Given the description of an element on the screen output the (x, y) to click on. 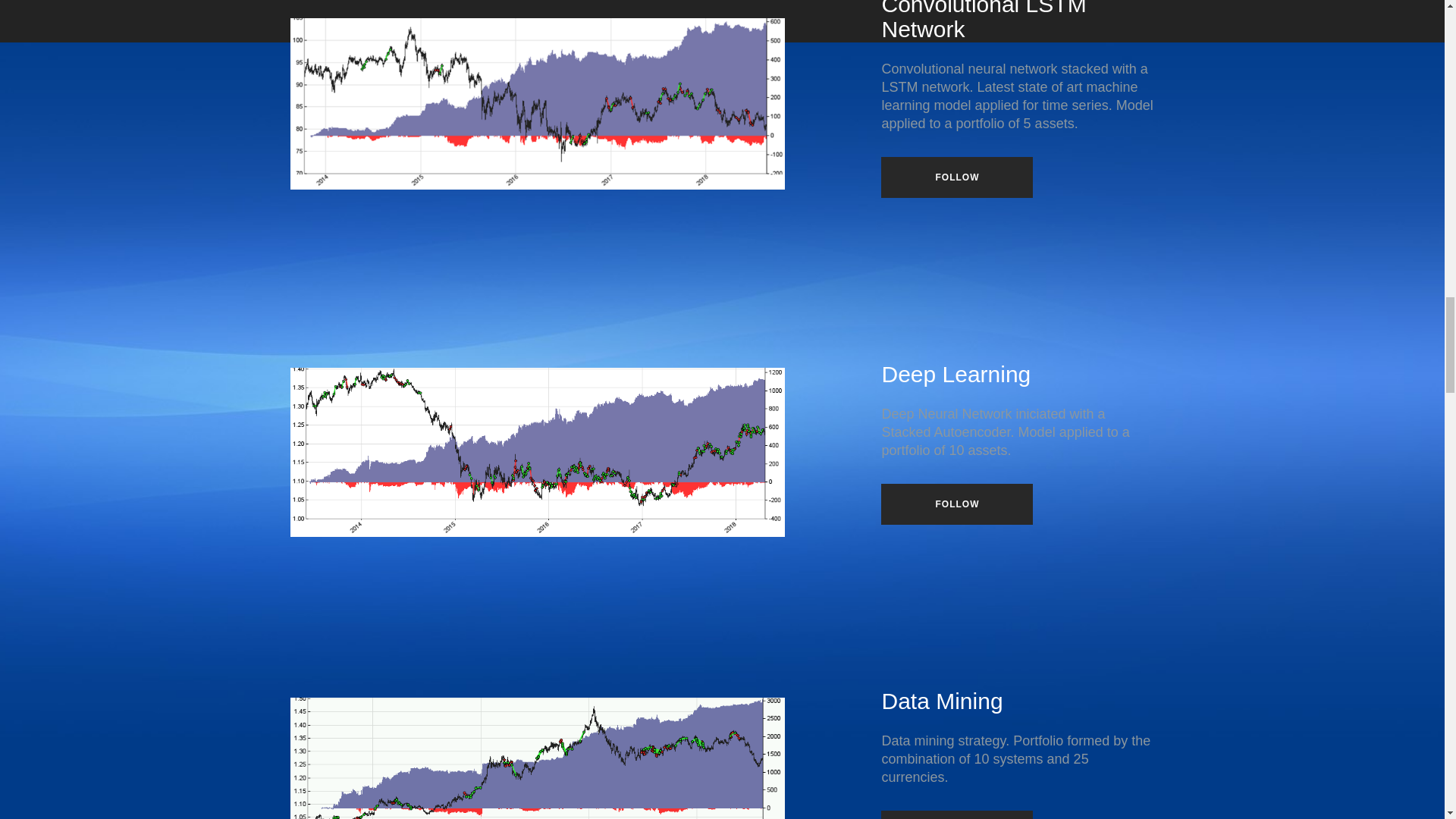
FOLLOW (956, 177)
FOLLOW (956, 814)
FOLLOW (956, 504)
